Given the description of an element on the screen output the (x, y) to click on. 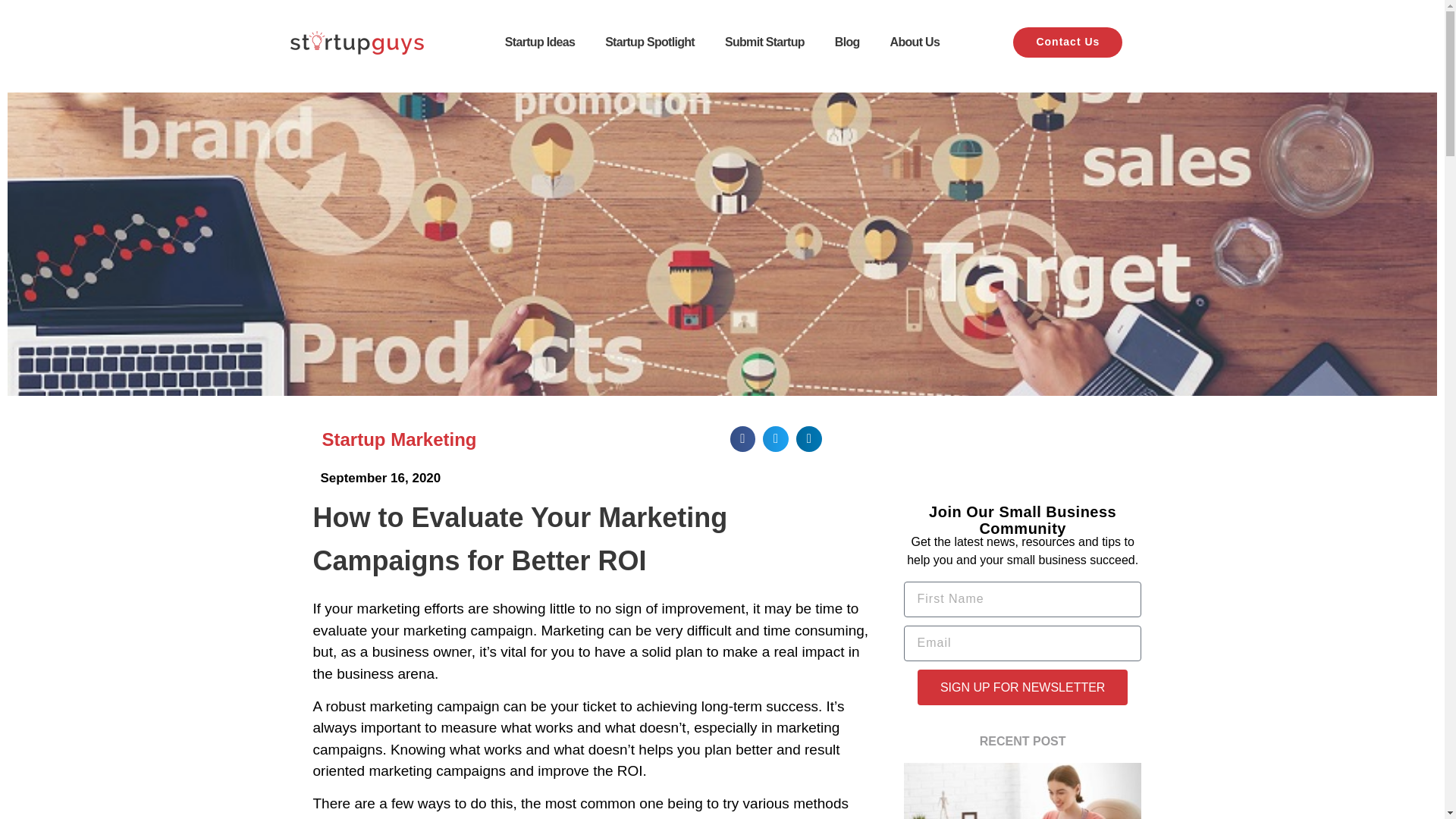
About Us (915, 42)
Contact Us (1067, 42)
Startup Spotlight (649, 42)
Blog (847, 42)
Submit Startup (764, 42)
Startup Ideas (539, 42)
SIGN UP FOR NEWSLETTER (1022, 687)
